Given the description of an element on the screen output the (x, y) to click on. 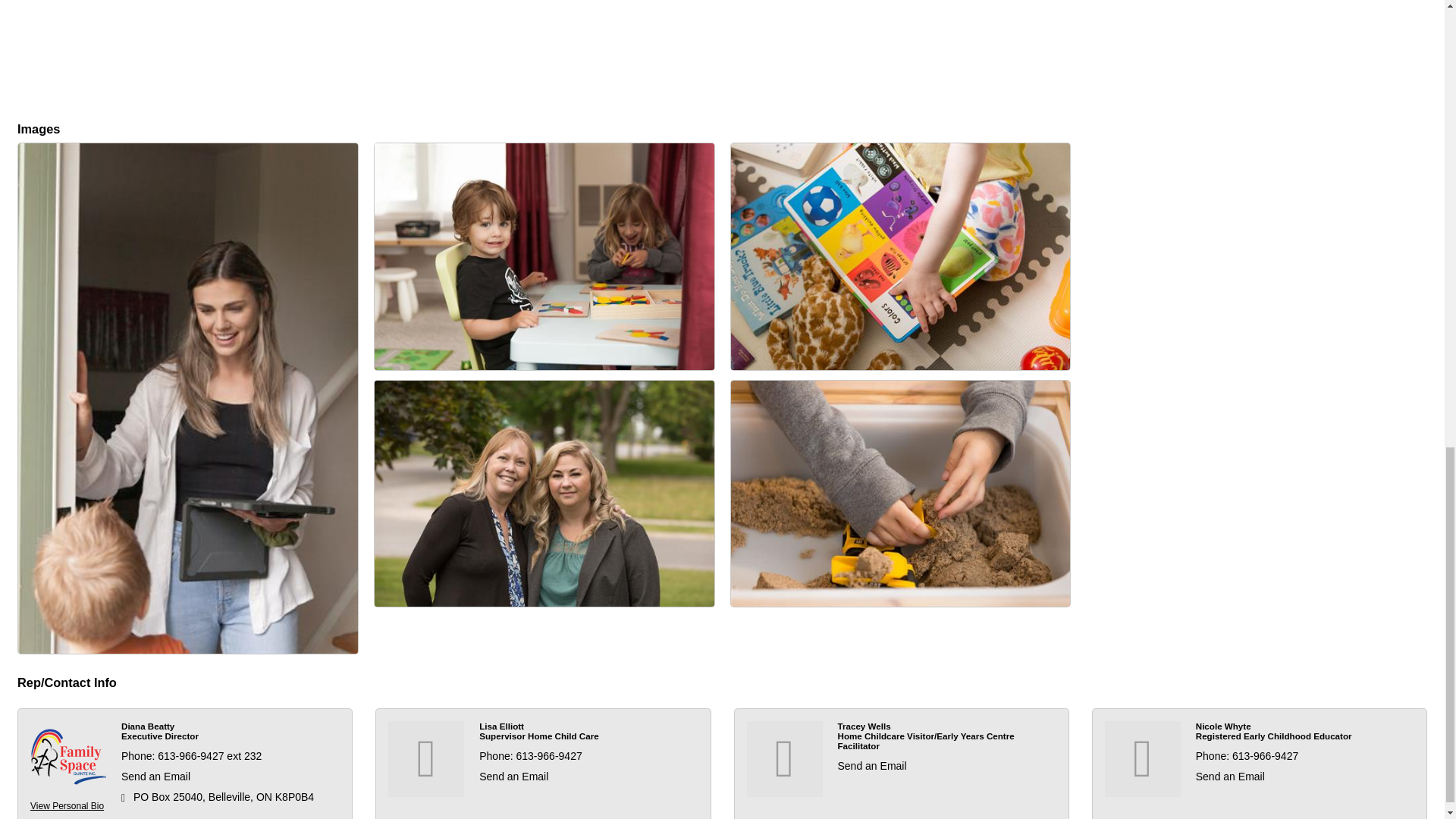
Send an Email (155, 776)
Send an Email (1230, 776)
Send an Email (871, 766)
Send an Email (513, 776)
EarlyON Playgroups (900, 256)
Home Visitors (544, 493)
PO Box 25040 Belleville ON K8P0B4 (236, 797)
Find Child Care  (544, 256)
Resource Consultants (900, 493)
